Given the description of an element on the screen output the (x, y) to click on. 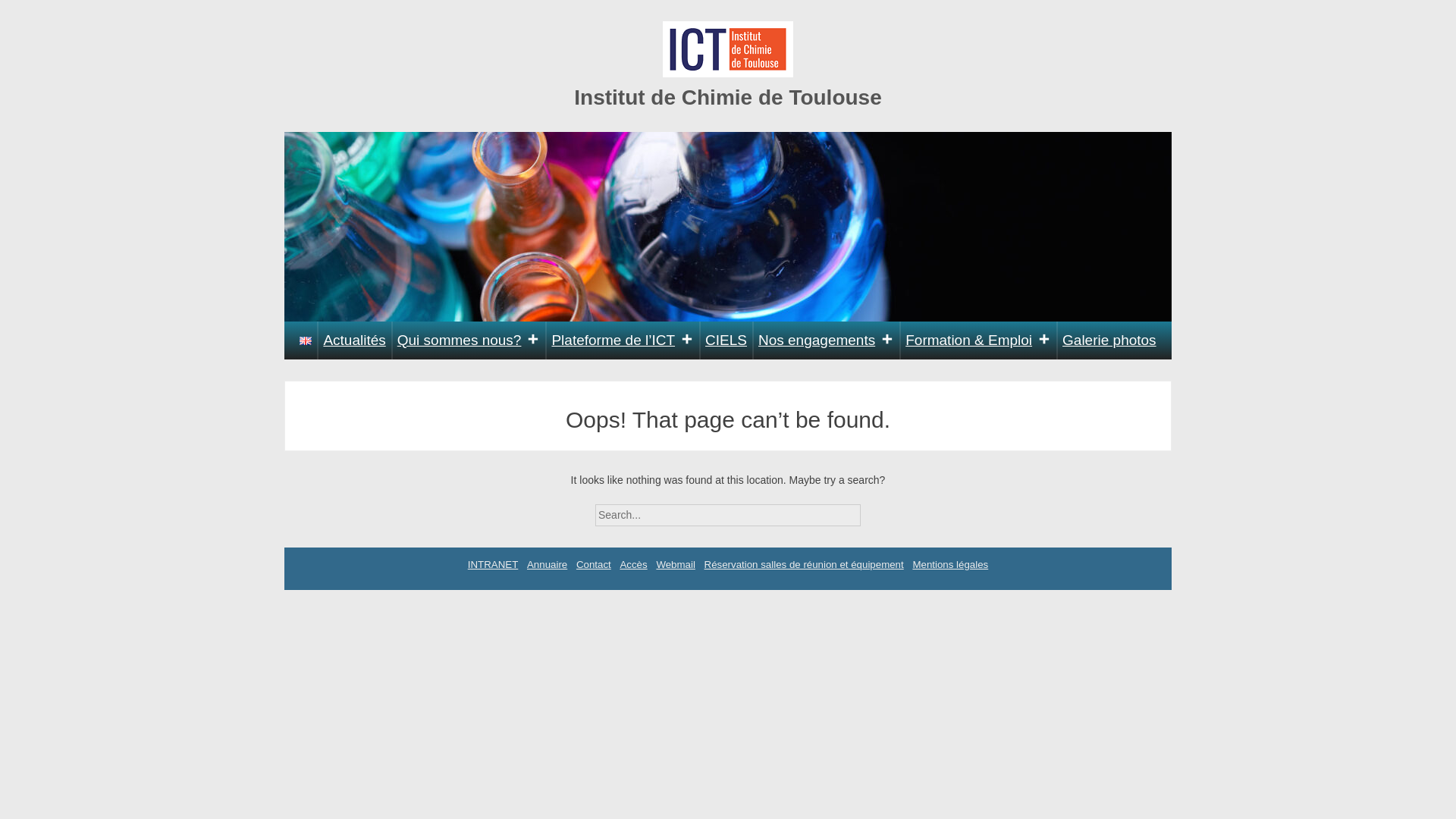
Qui sommes nous? (468, 340)
Search (873, 509)
CIELS (726, 340)
Nos engagements (825, 340)
Search (873, 509)
Institut de Chimie de Toulouse (727, 97)
